Given the description of an element on the screen output the (x, y) to click on. 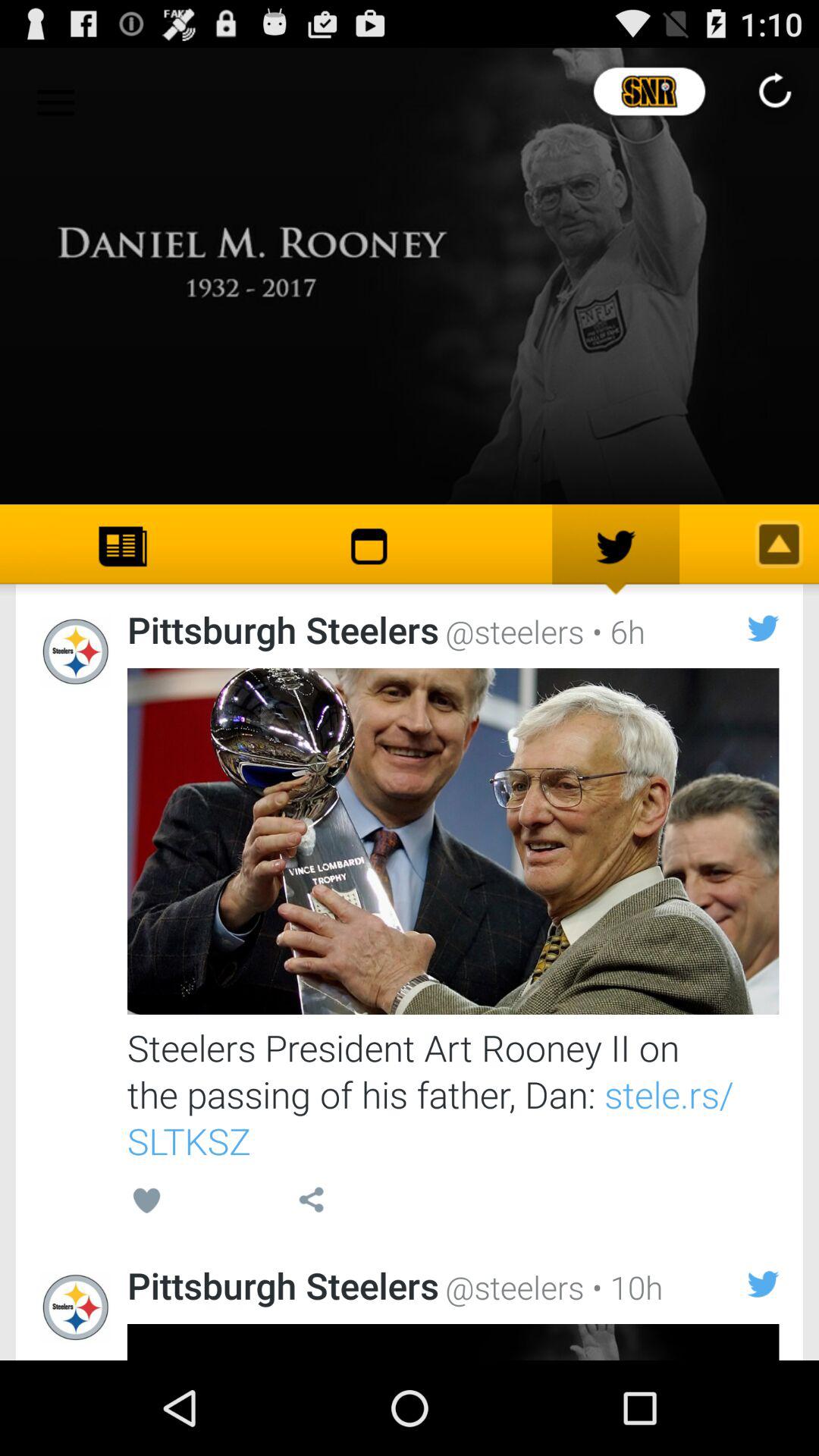
picture of the content (453, 841)
